Given the description of an element on the screen output the (x, y) to click on. 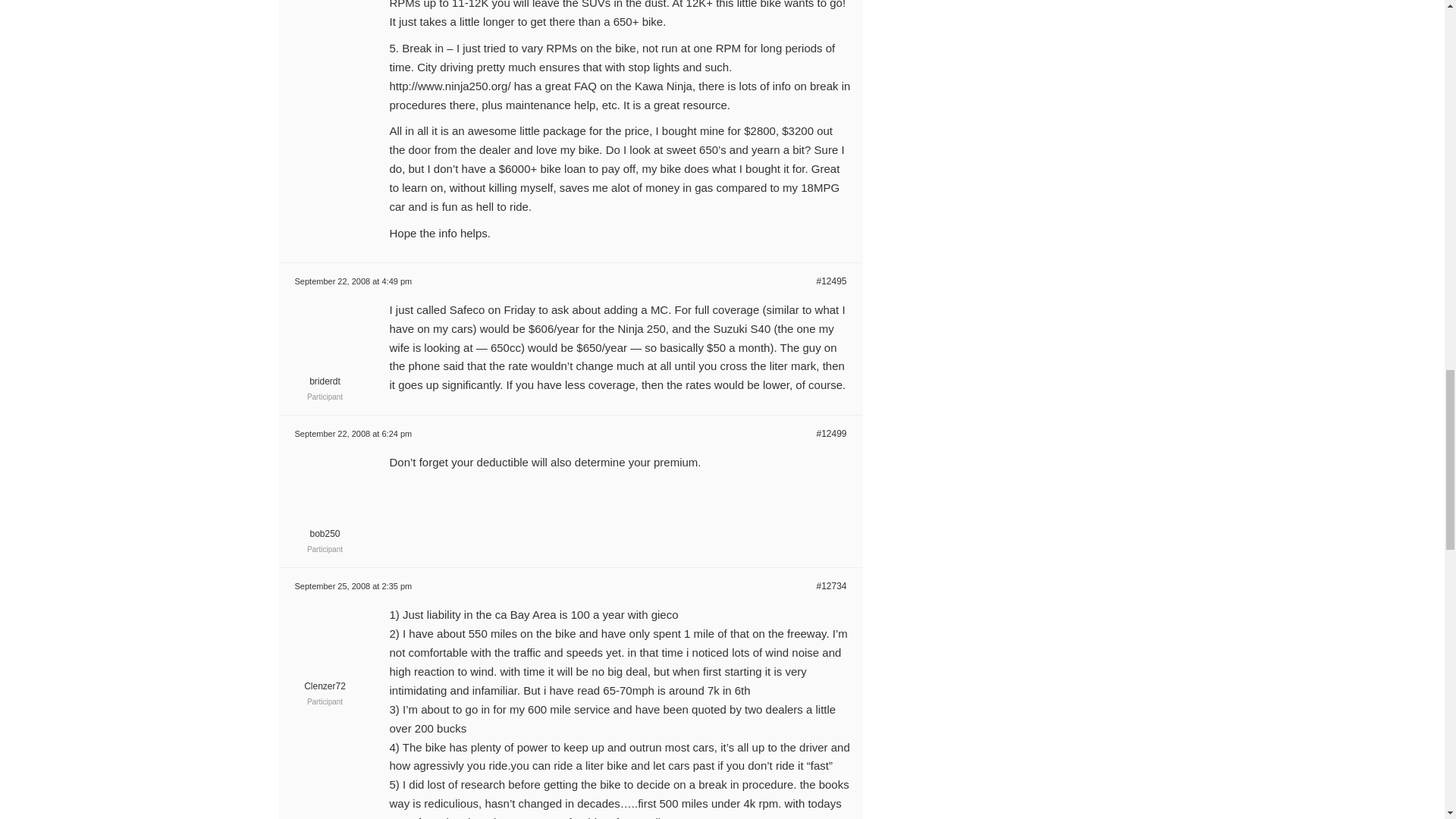
View bob250's profile (324, 525)
View Clenzer72's profile (324, 678)
View briderdt's profile (324, 373)
